Given the description of an element on the screen output the (x, y) to click on. 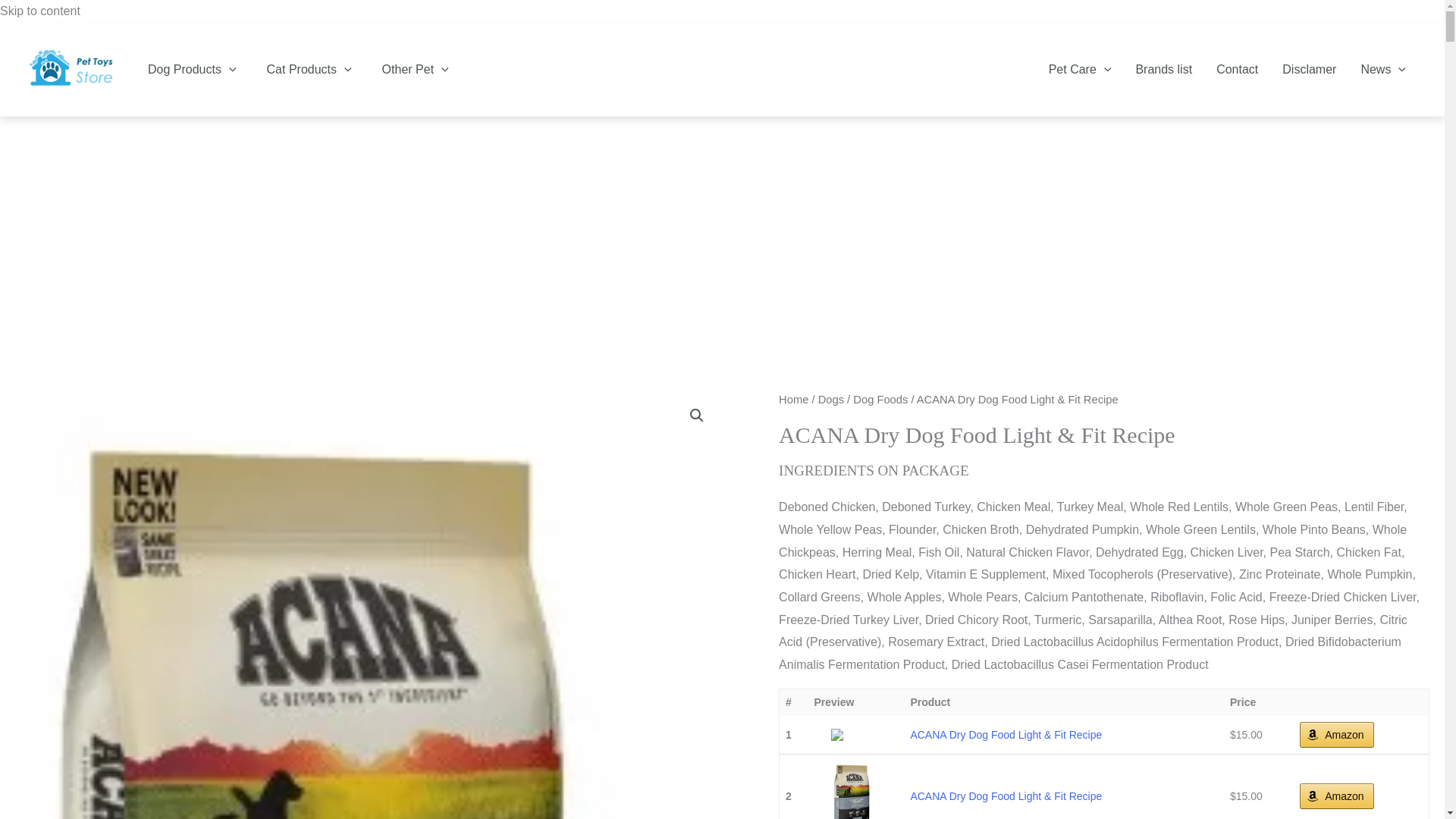
Contact (1236, 68)
Dogs (831, 399)
News (1383, 68)
Brands list (1163, 68)
Amazon (1336, 795)
Dog Products (191, 68)
Home (793, 399)
Disclamer (1308, 68)
Dog Foods (880, 399)
Amazon (1336, 734)
Cat Products (308, 68)
Other Pet (415, 68)
Pet Care (1080, 68)
